Given the description of an element on the screen output the (x, y) to click on. 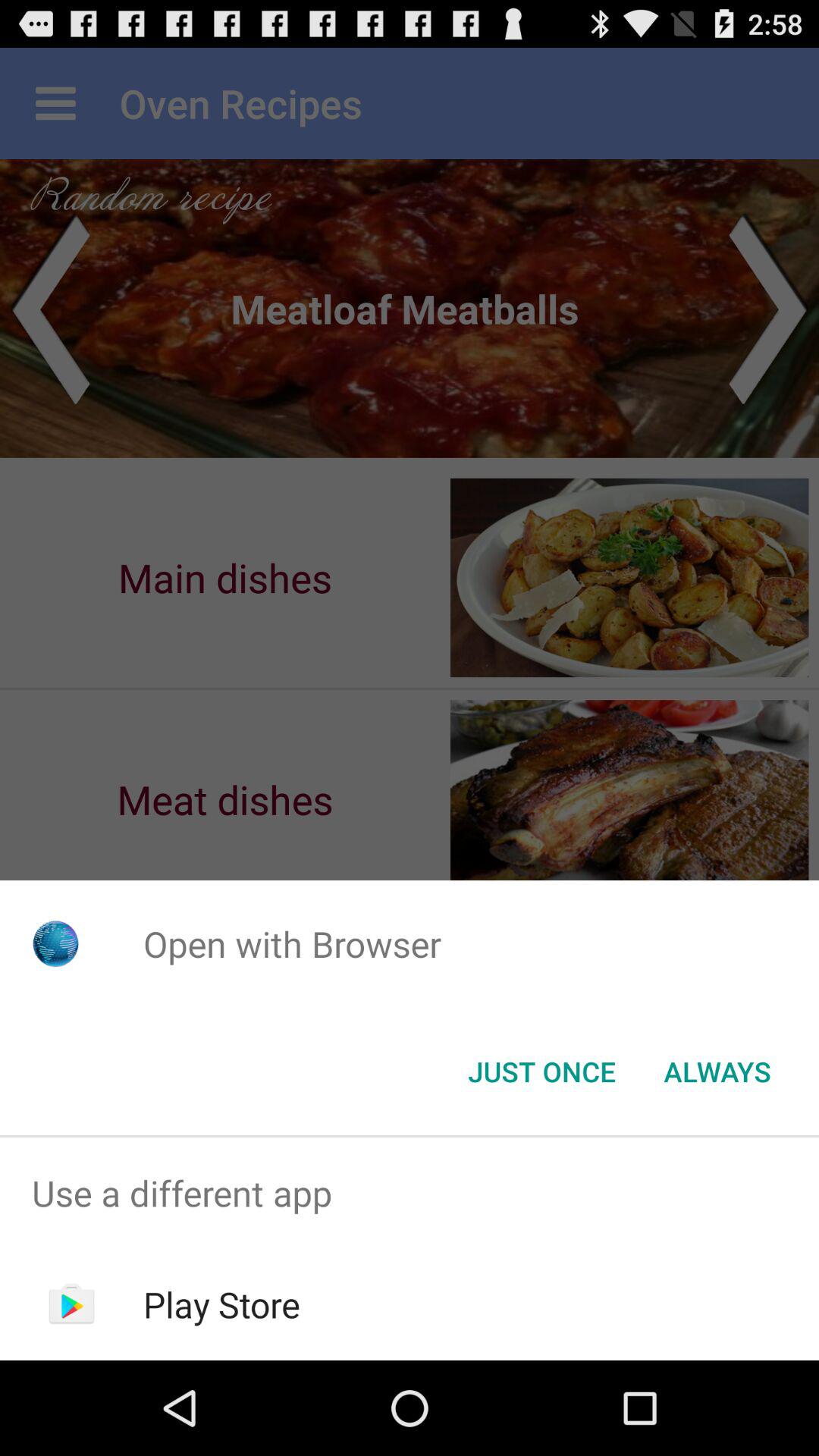
choose app below the open with browser app (717, 1071)
